Given the description of an element on the screen output the (x, y) to click on. 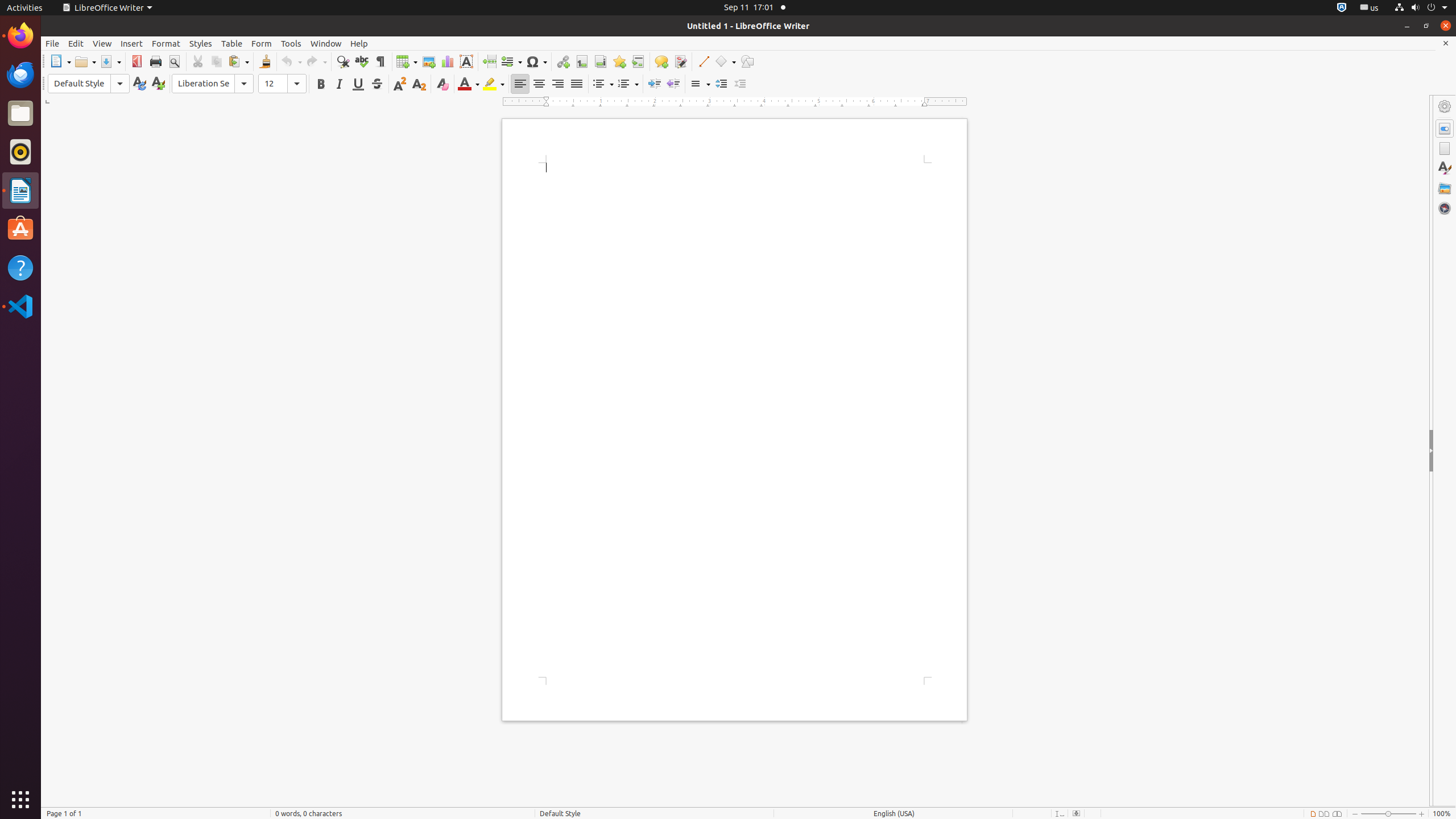
Track Changes Functions Element type: toggle-button (679, 61)
Symbol Element type: push-button (535, 61)
Italic Element type: toggle-button (338, 83)
Right Element type: toggle-button (557, 83)
Highlight Color Element type: push-button (493, 83)
